Given the description of an element on the screen output the (x, y) to click on. 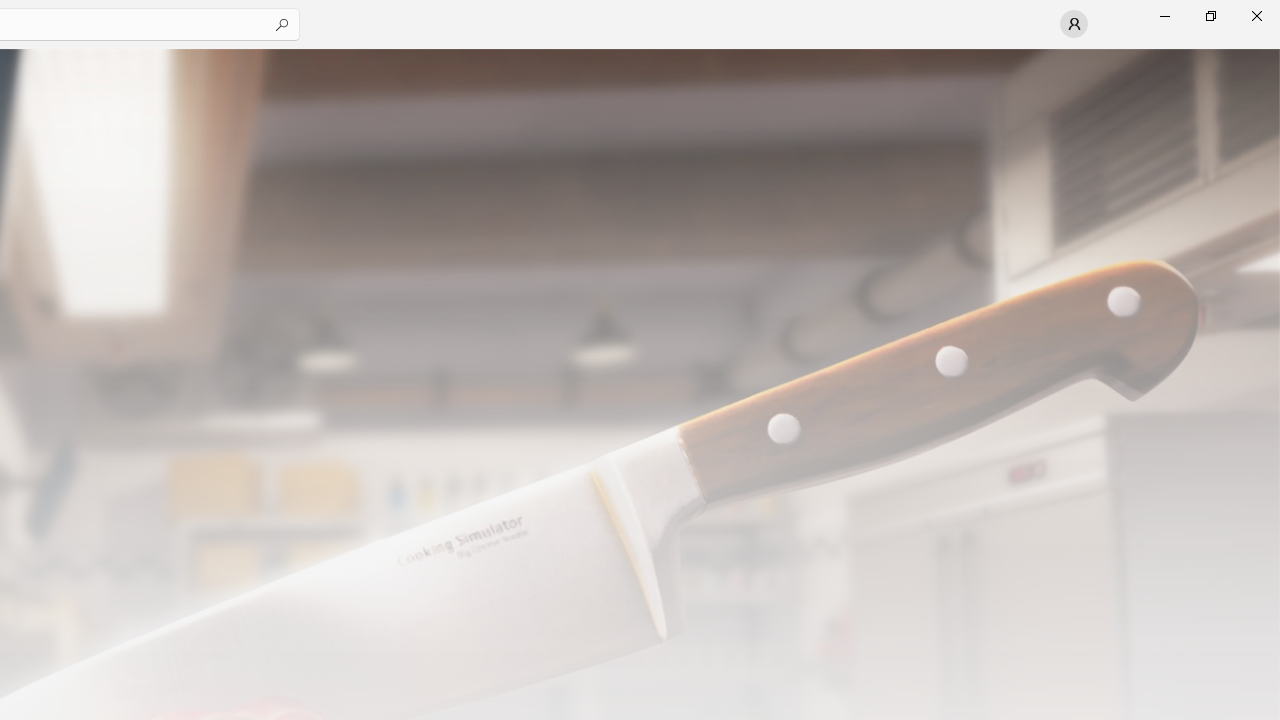
Restore Microsoft Store (1210, 15)
Minimize Microsoft Store (1164, 15)
User profile (1073, 24)
Close Microsoft Store (1256, 15)
